Given the description of an element on the screen output the (x, y) to click on. 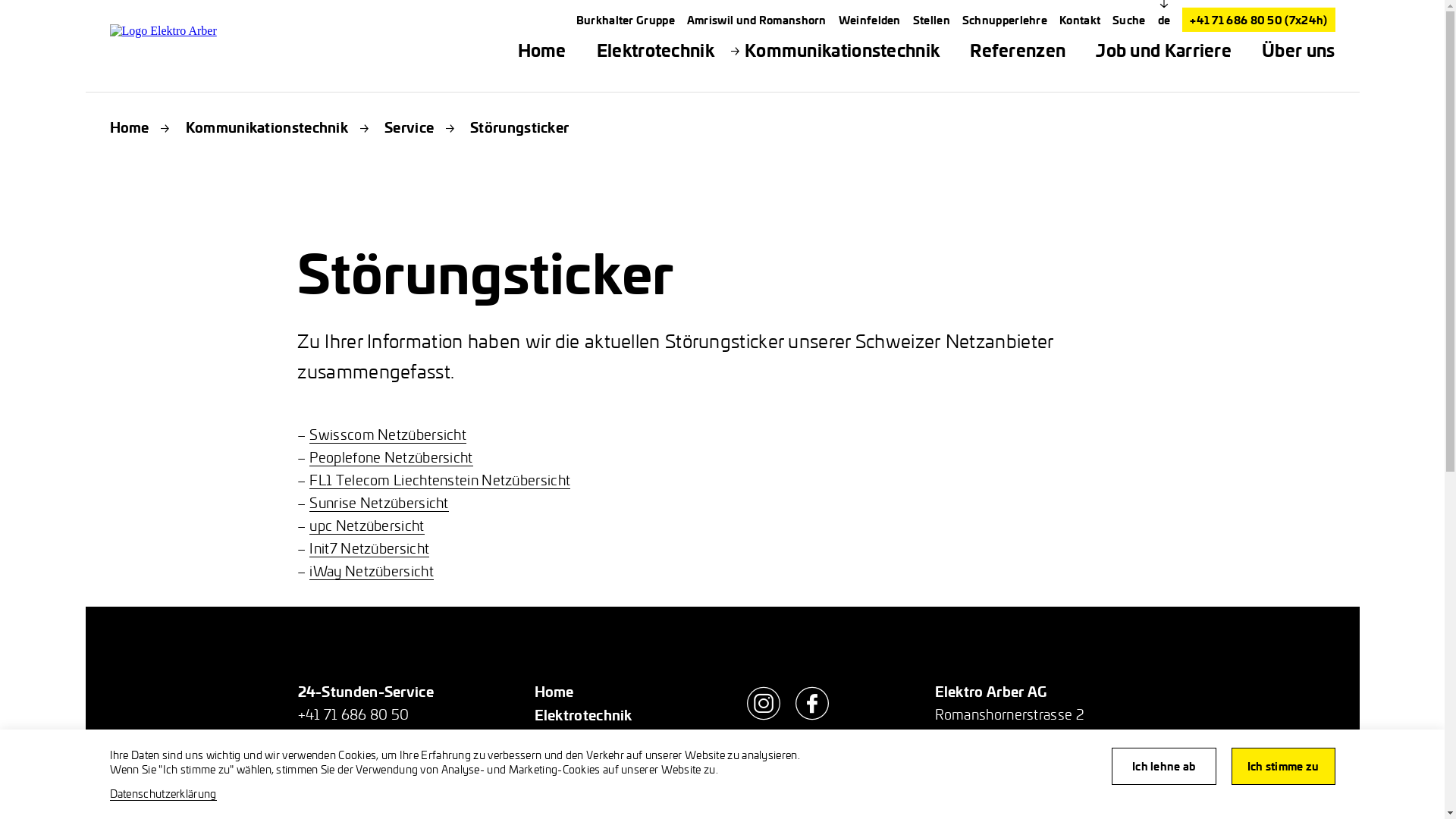
Suche Element type: text (1128, 20)
de Element type: text (1163, 20)
Elektrotechnik Element type: text (655, 49)
Kontakt Element type: text (1079, 20)
Schnupperlehre Element type: text (1004, 20)
Job und Karriere Element type: text (589, 785)
Ich lehne ab Element type: text (1163, 765)
Service Element type: text (408, 126)
+41 71 686 80 50 Element type: text (352, 714)
Kommunikationstechnik Element type: text (614, 738)
Ich stimme zu Element type: text (1283, 765)
Home Element type: text (541, 49)
Referenzen Element type: text (571, 761)
T +41 71 686 80 50 Element type: text (995, 782)
E-Mail senden Element type: text (979, 805)
Elektrotechnik Element type: text (582, 714)
Kommunikationstechnik Element type: text (266, 126)
Burkhalter Gruppe Element type: text (625, 20)
+41 71 686 80 50 (7x24h) Element type: text (1258, 19)
Kommunikationstechnik Element type: text (841, 49)
Home Element type: text (128, 126)
Amriswil und Romanshorn Element type: text (756, 20)
Job und Karriere Element type: text (1163, 49)
Weinfelden Element type: text (869, 20)
Stellen Element type: text (931, 20)
Referenzen Element type: text (1017, 49)
Home Element type: text (553, 690)
